Given the description of an element on the screen output the (x, y) to click on. 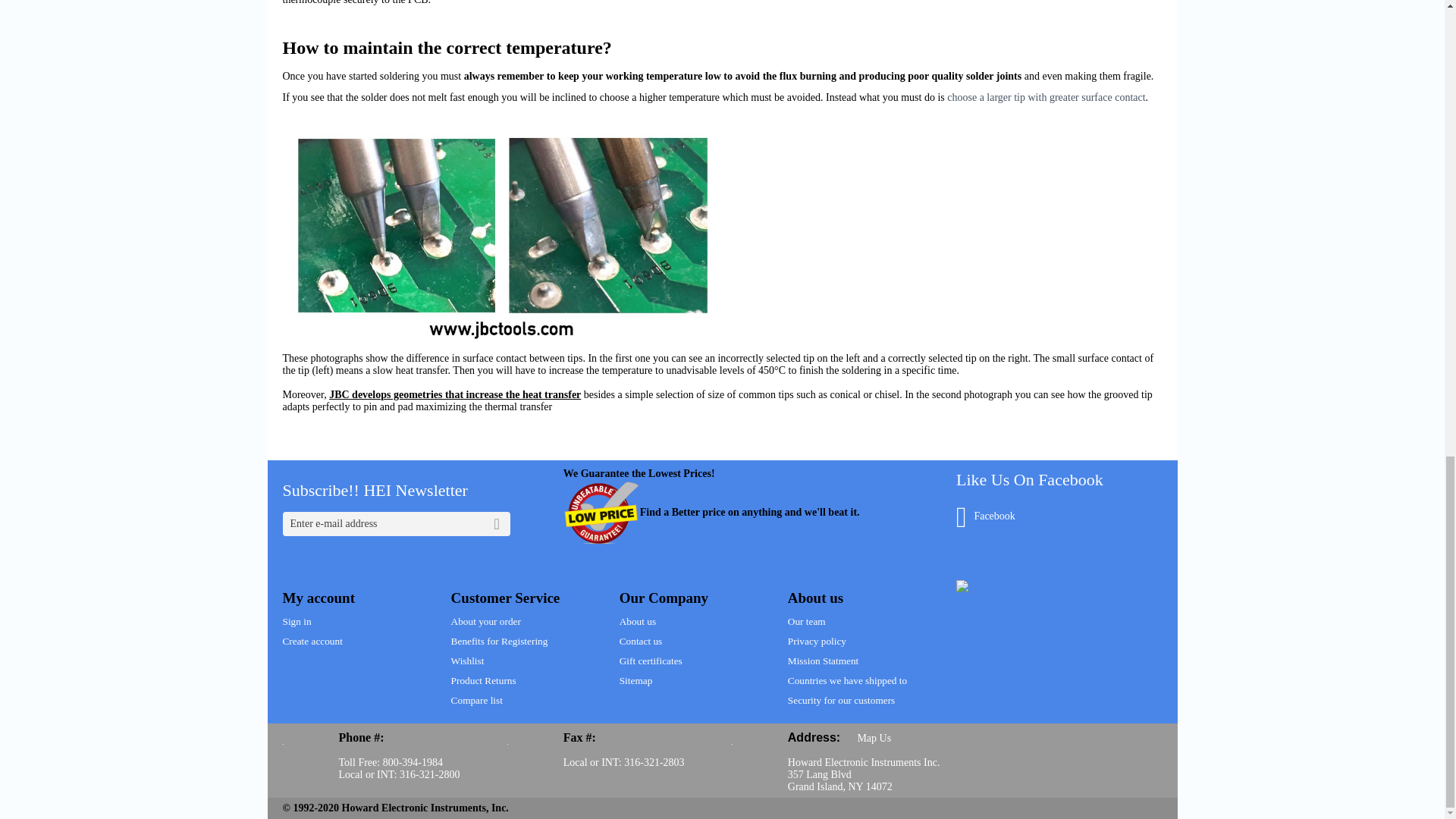
Enter e-mail address (395, 523)
SiteLock (962, 585)
Go (496, 523)
